Given the description of an element on the screen output the (x, y) to click on. 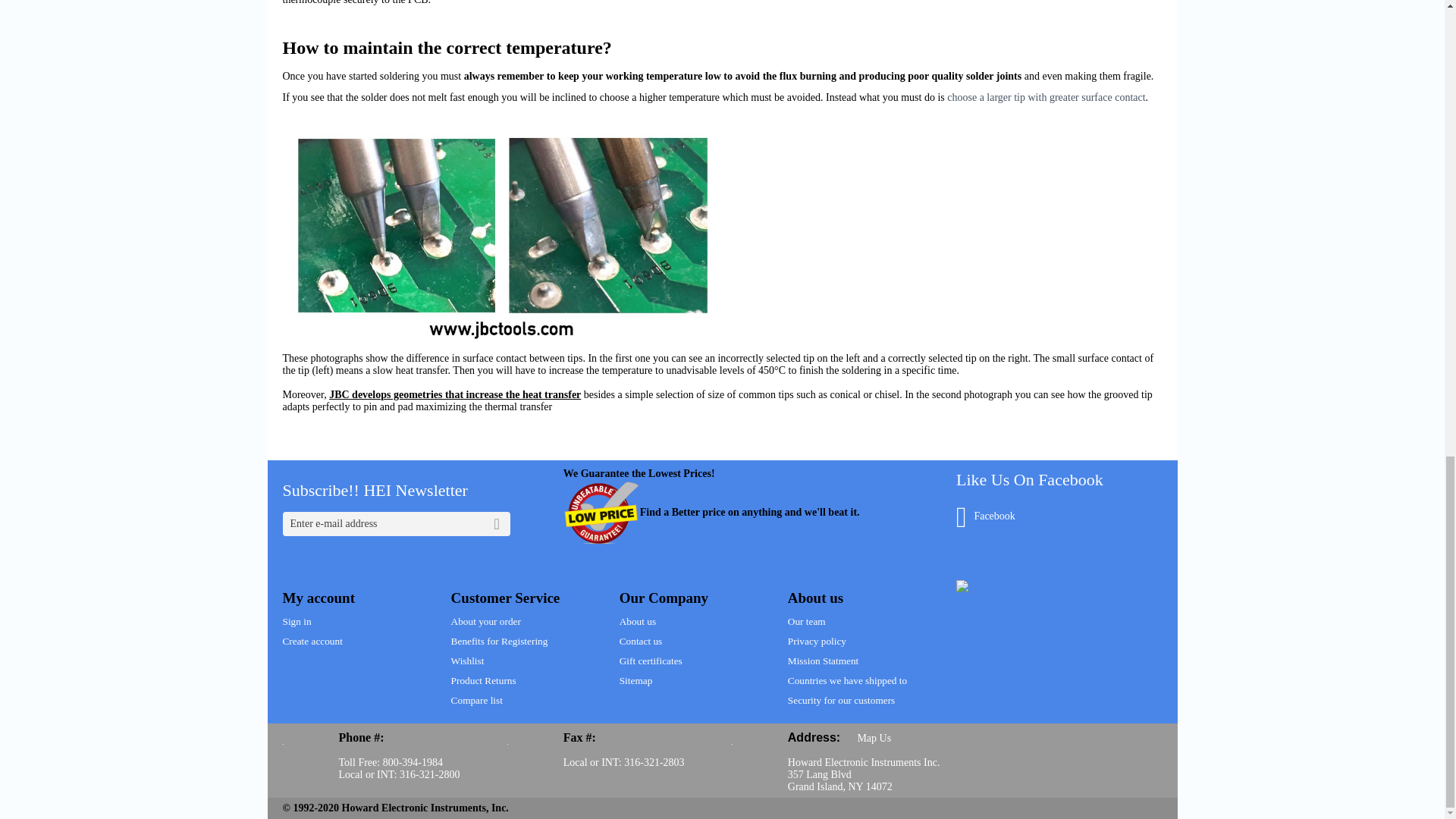
Enter e-mail address (395, 523)
SiteLock (962, 585)
Go (496, 523)
